Given the description of an element on the screen output the (x, y) to click on. 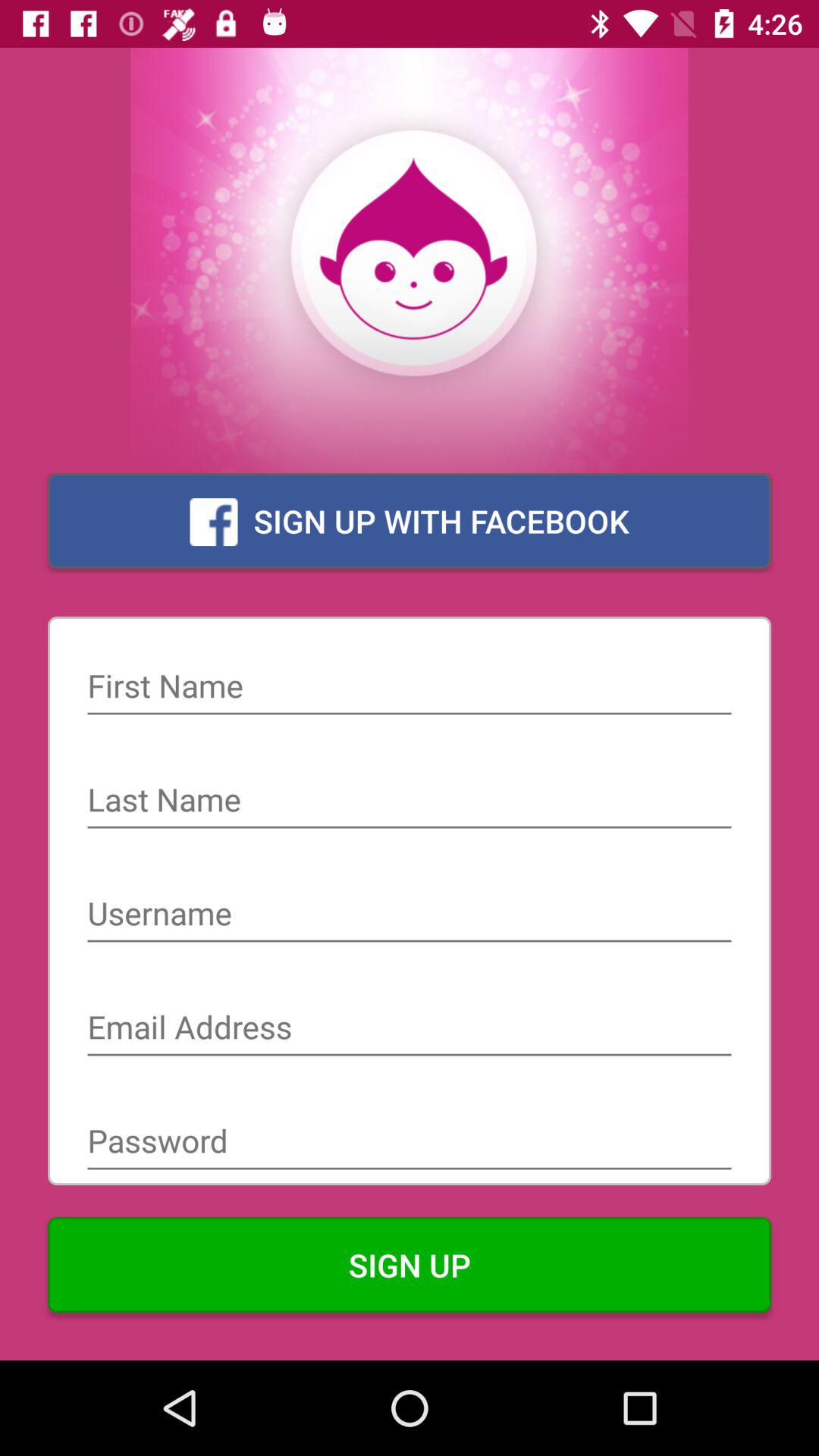
enter email address (409, 1028)
